Given the description of an element on the screen output the (x, y) to click on. 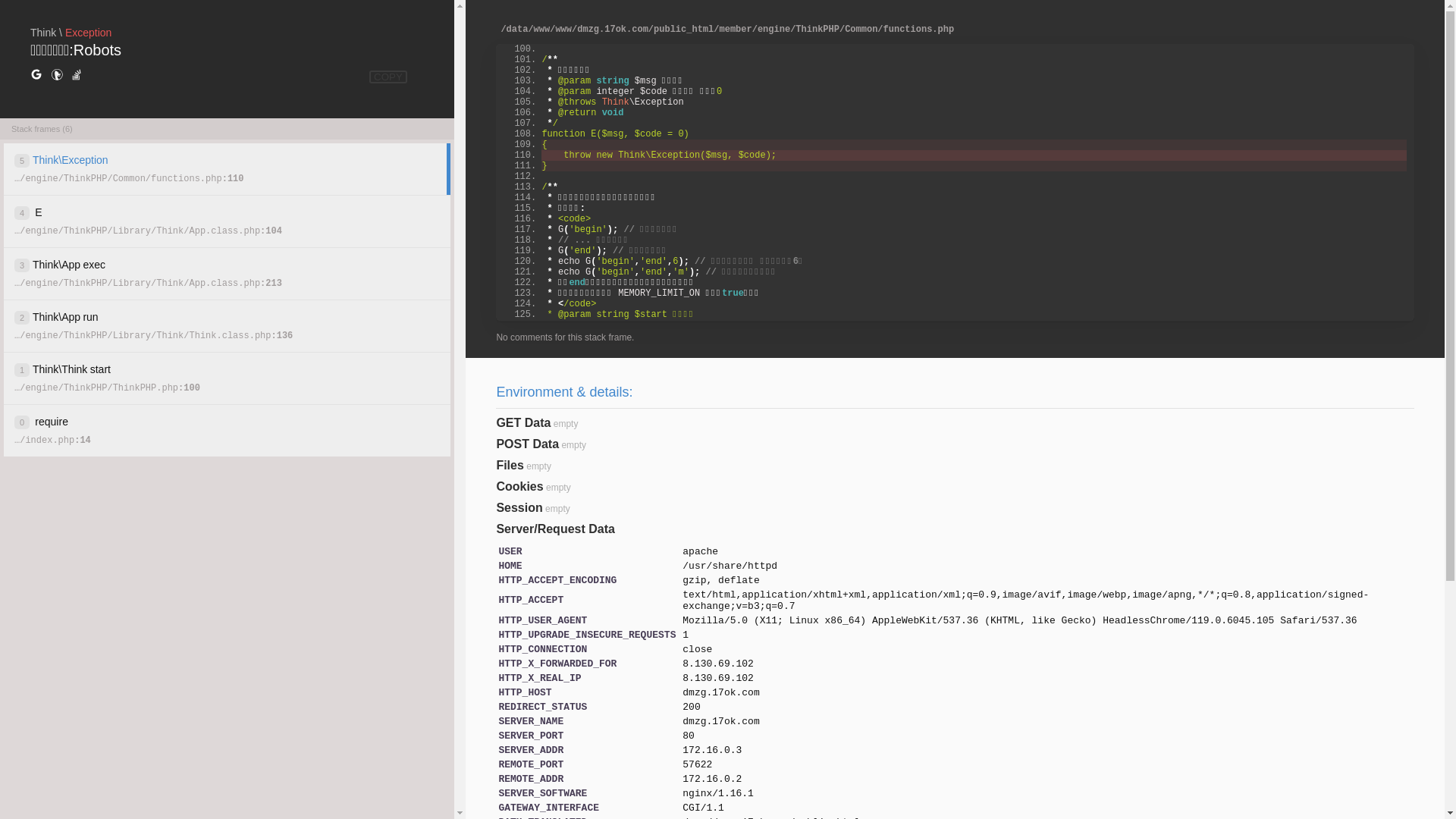
COPY Element type: text (388, 76)
Search for help on DuckDuckGo. Element type: hover (56, 74)
Search for help on Google. Element type: hover (36, 74)
Search for help on Stack Overflow. Element type: hover (76, 74)
